Given the description of an element on the screen output the (x, y) to click on. 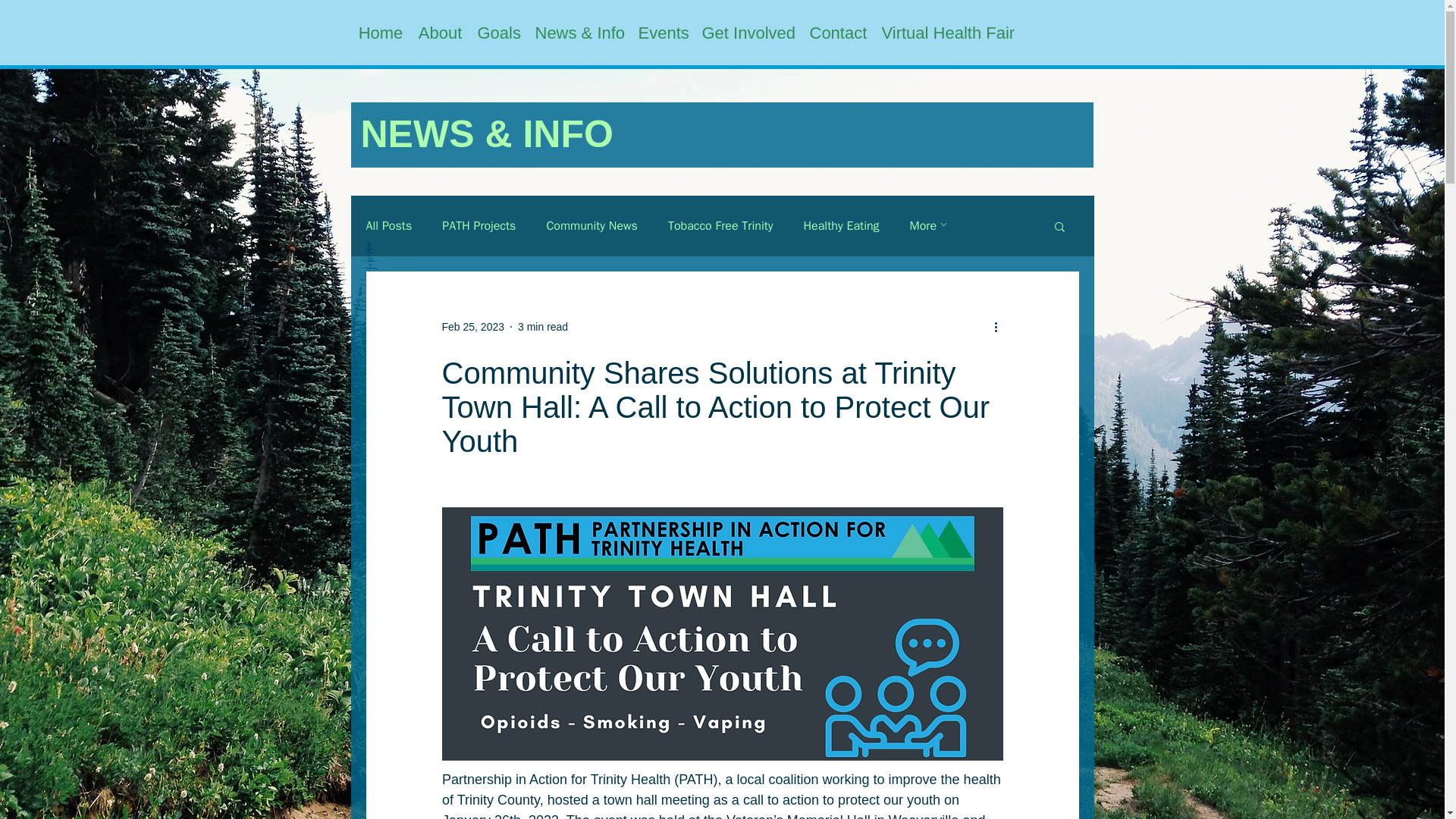
Get Involved (748, 33)
Healthy Eating (841, 226)
Feb 25, 2023 (472, 326)
3 min read (542, 326)
All Posts (388, 226)
Virtual Health Fair (946, 33)
Goals (498, 33)
Events (662, 33)
PATH Projects (478, 226)
Contact (838, 33)
Community News (591, 226)
Home (380, 33)
Tobacco Free Trinity (720, 226)
About (440, 33)
